Given the description of an element on the screen output the (x, y) to click on. 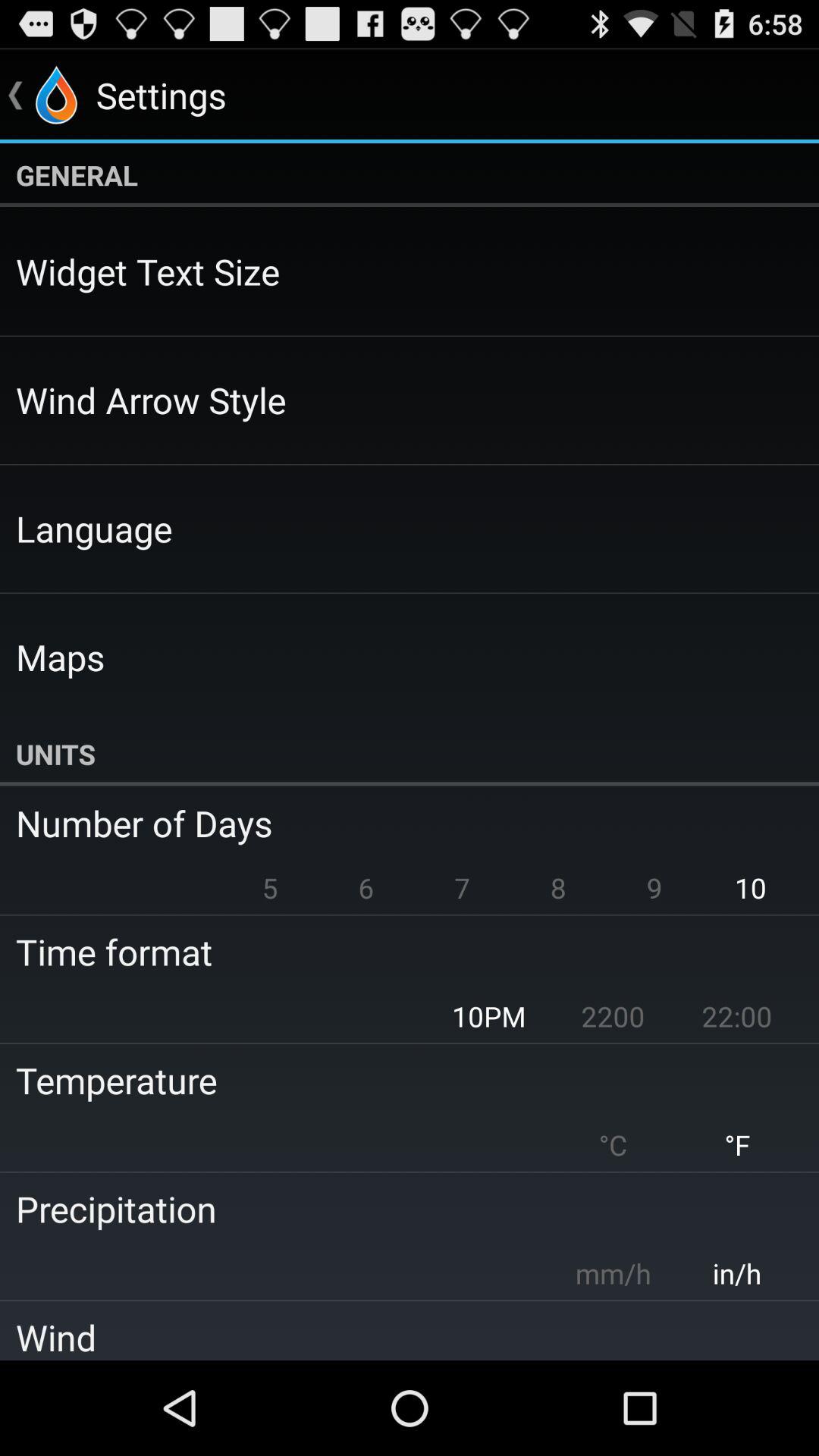
launch icon below the wind arrow style app (93, 528)
